Given the description of an element on the screen output the (x, y) to click on. 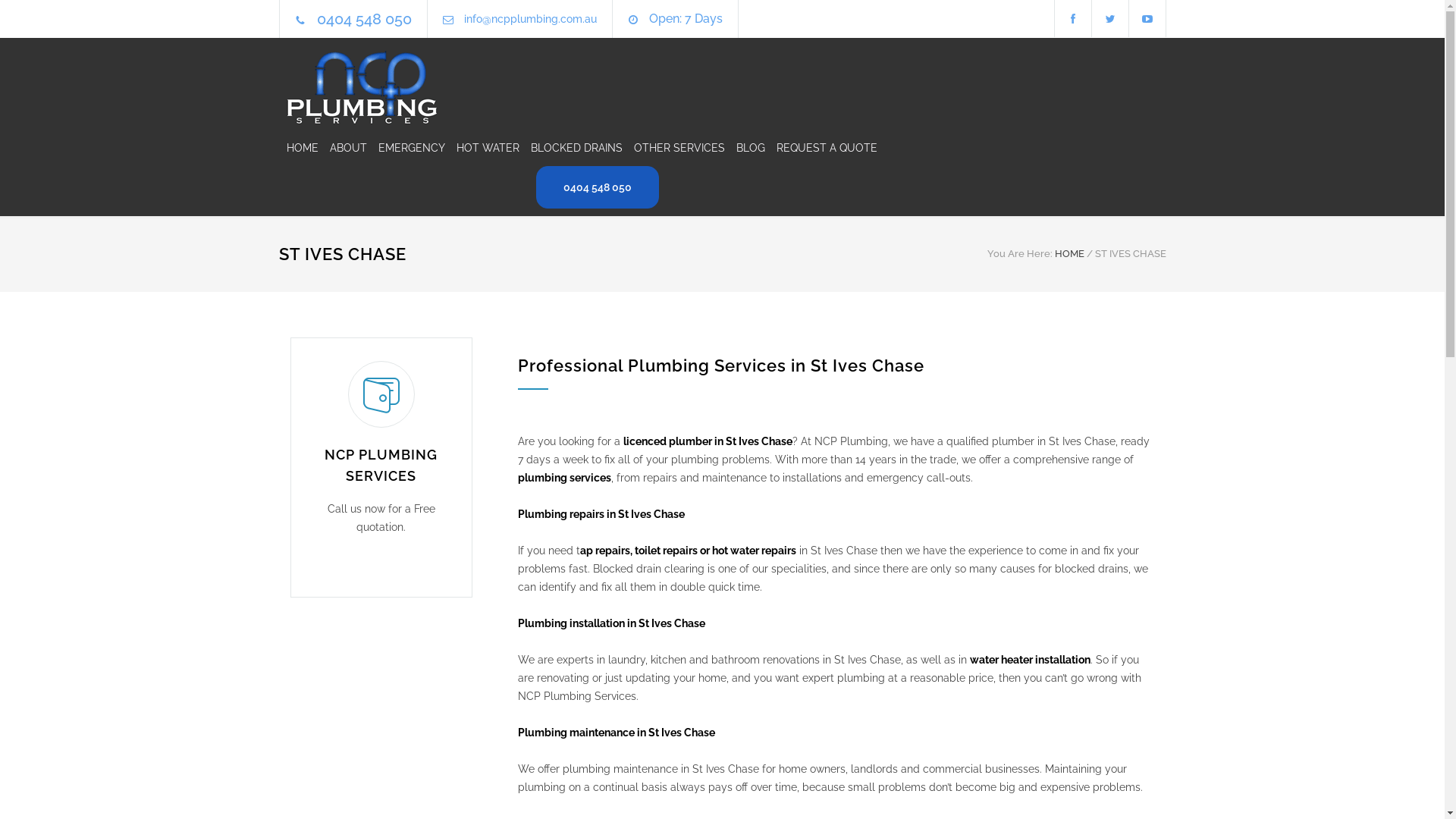
HOME Element type: text (302, 147)
OTHER SERVICES Element type: text (673, 147)
HOT WATER Element type: text (482, 147)
0404 548 050 Element type: text (596, 187)
info@ncpplumbing.com.au Element type: text (530, 18)
BLOG Element type: text (744, 147)
HOME Element type: text (1068, 253)
ABOUT Element type: text (342, 147)
REQUEST A QUOTE Element type: text (821, 147)
BLOCKED DRAINS Element type: text (570, 147)
0404 548 050 Element type: text (363, 18)
EMERGENCY Element type: text (406, 147)
